Given the description of an element on the screen output the (x, y) to click on. 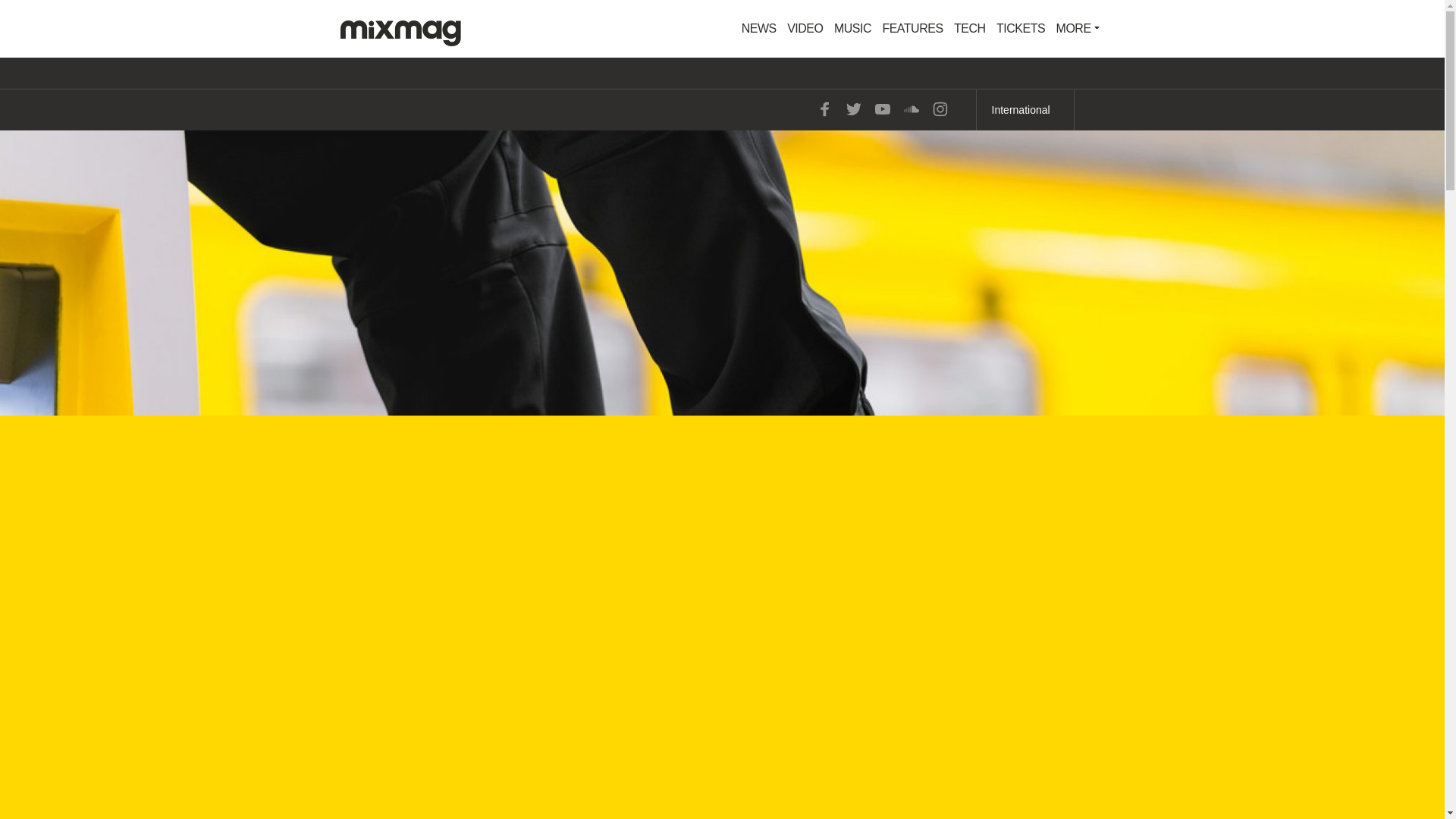
TICKETS (1020, 28)
FEATURES (911, 28)
MORE (1078, 28)
